Given the description of an element on the screen output the (x, y) to click on. 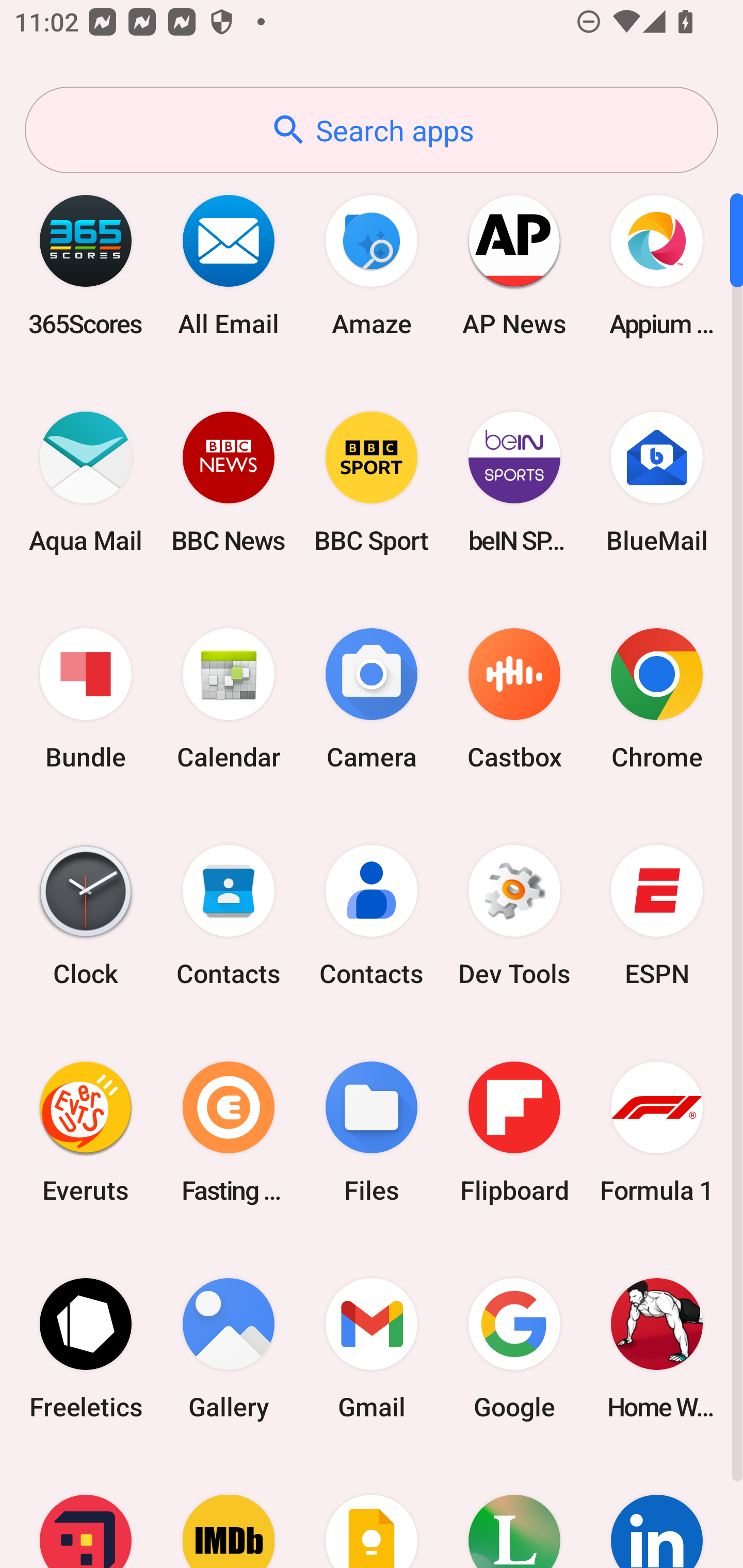
  Search apps (371, 130)
365Scores (85, 264)
All Email (228, 264)
Amaze (371, 264)
AP News (514, 264)
Appium Settings (656, 264)
Aqua Mail (85, 482)
BBC News (228, 482)
BBC Sport (371, 482)
beIN SPORTS (514, 482)
BlueMail (656, 482)
Bundle (85, 699)
Calendar (228, 699)
Camera (371, 699)
Castbox (514, 699)
Chrome (656, 699)
Clock (85, 915)
Contacts (228, 915)
Contacts (371, 915)
Dev Tools (514, 915)
ESPN (656, 915)
Everuts (85, 1131)
Fasting Coach (228, 1131)
Files (371, 1131)
Flipboard (514, 1131)
Formula 1 (656, 1131)
Freeletics (85, 1348)
Gallery (228, 1348)
Gmail (371, 1348)
Google (514, 1348)
Home Workout (656, 1348)
Hotels.com (85, 1512)
IMDb (228, 1512)
Keep Notes (371, 1512)
Lifesum (514, 1512)
LinkedIn (656, 1512)
